Given the description of an element on the screen output the (x, y) to click on. 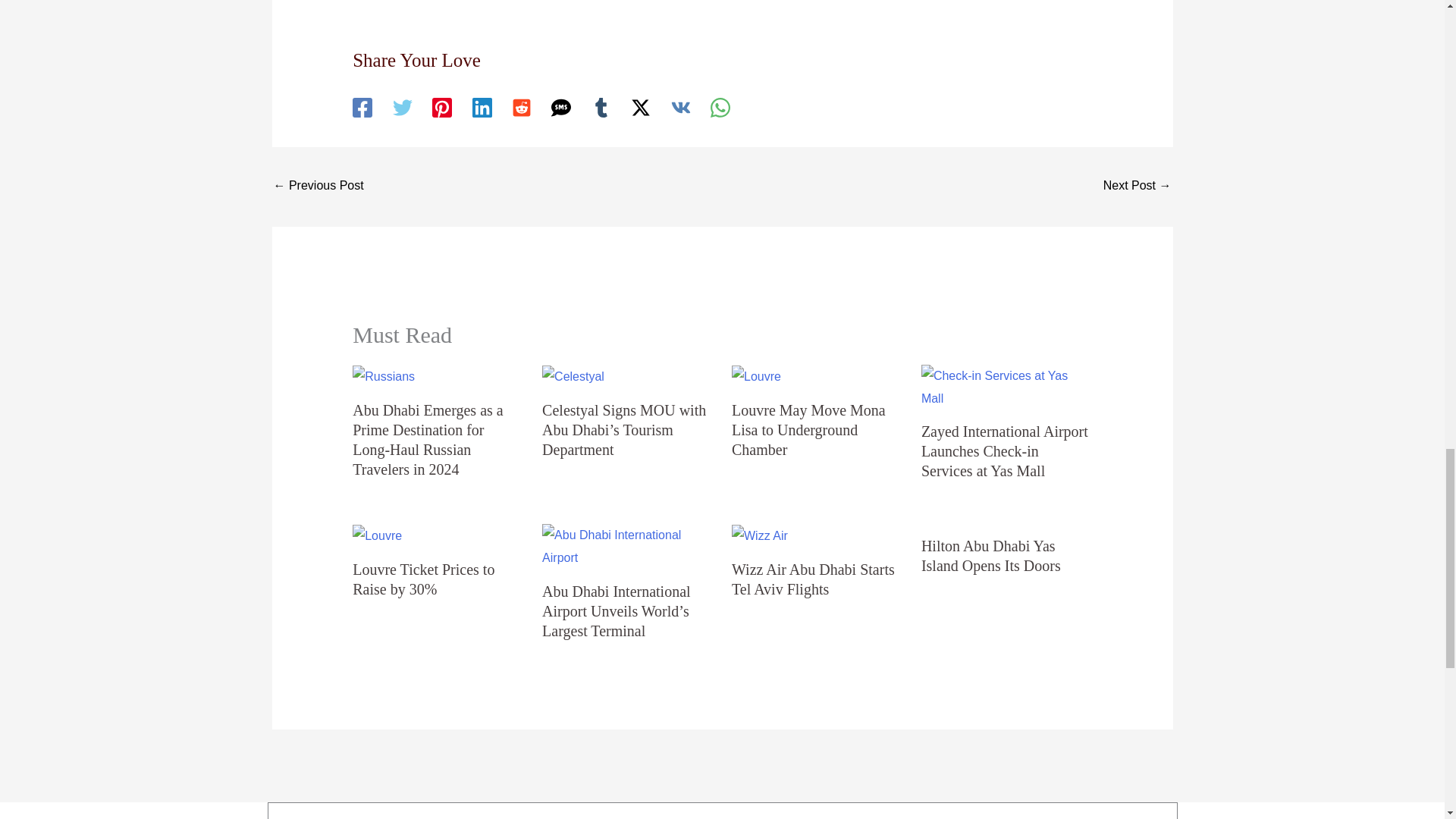
Wizz Air Abu Dhabi Starts Tel Aviv Flights 9 (759, 535)
Celestyal Signs MOU with Abu Dhabi's Tourism Department 4 (572, 376)
Louvre May Move Mona Lisa to Underground Chamber 5 (756, 376)
The Most Environmentally-Friendly Failway is... (1137, 186)
MIA Welcomes Amazon Air (317, 186)
